Given the description of an element on the screen output the (x, y) to click on. 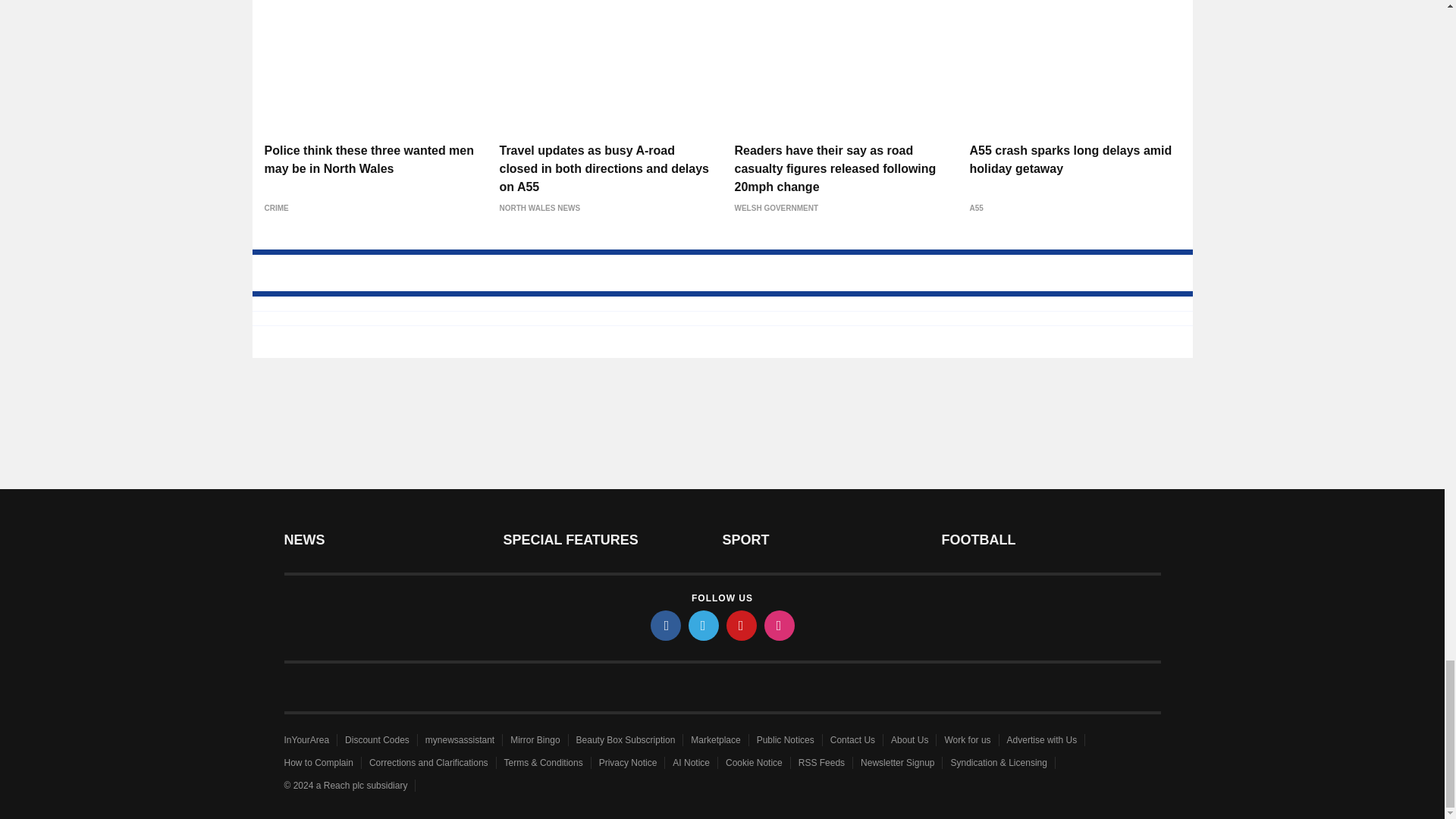
twitter (703, 625)
instagram (779, 625)
facebook (665, 625)
pinterest (741, 625)
